Given the description of an element on the screen output the (x, y) to click on. 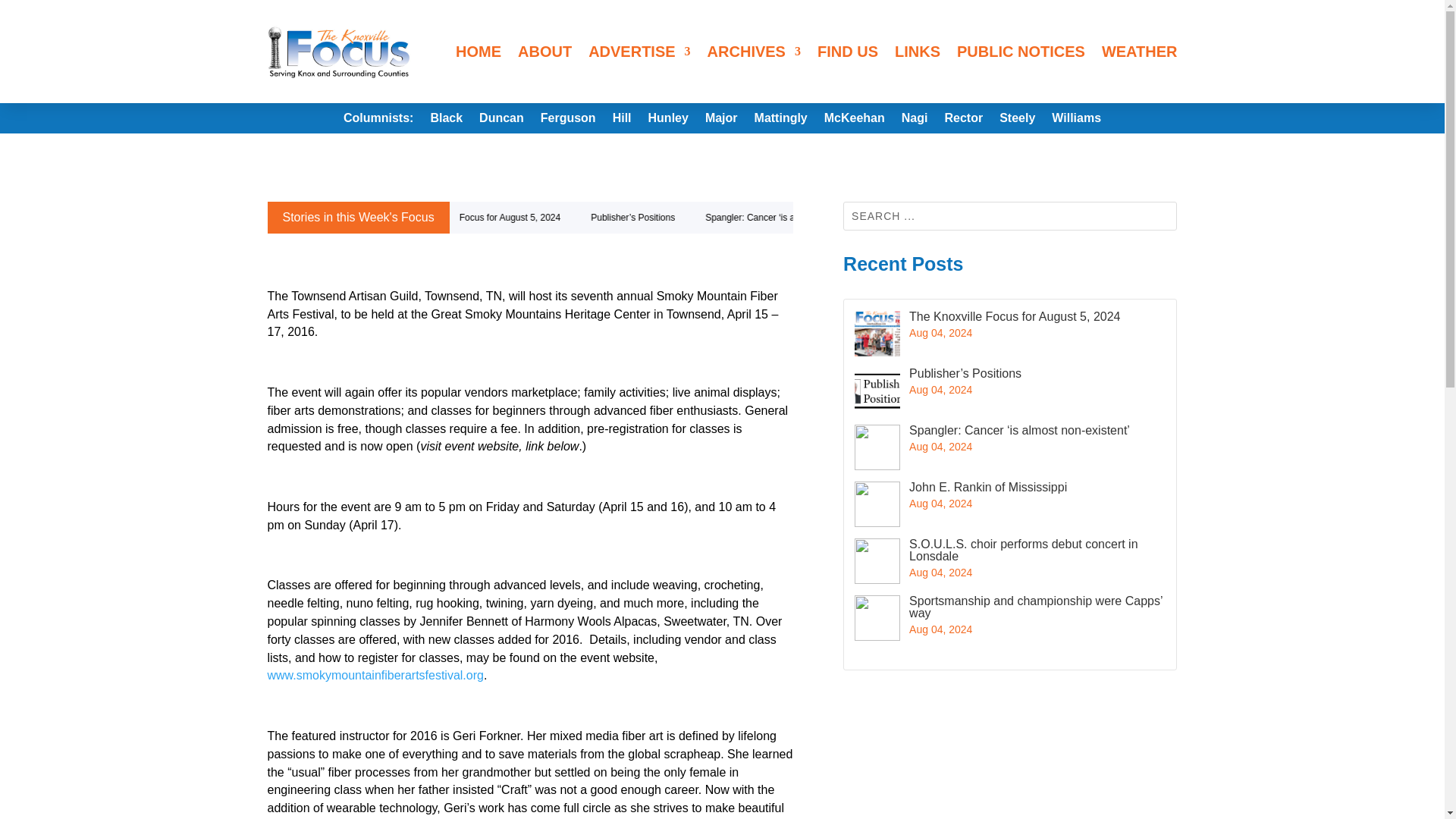
ADVERTISE (639, 51)
Duncan (501, 121)
McKeehan (854, 121)
Steely (1016, 121)
Mattingly (781, 121)
ABOUT (545, 51)
Hunley (667, 121)
Major (721, 121)
Nagi (914, 121)
Rector (962, 121)
Black (446, 121)
Williams (1075, 121)
ARCHIVES (753, 51)
Hill (621, 121)
FIND US (846, 51)
